Given the description of an element on the screen output the (x, y) to click on. 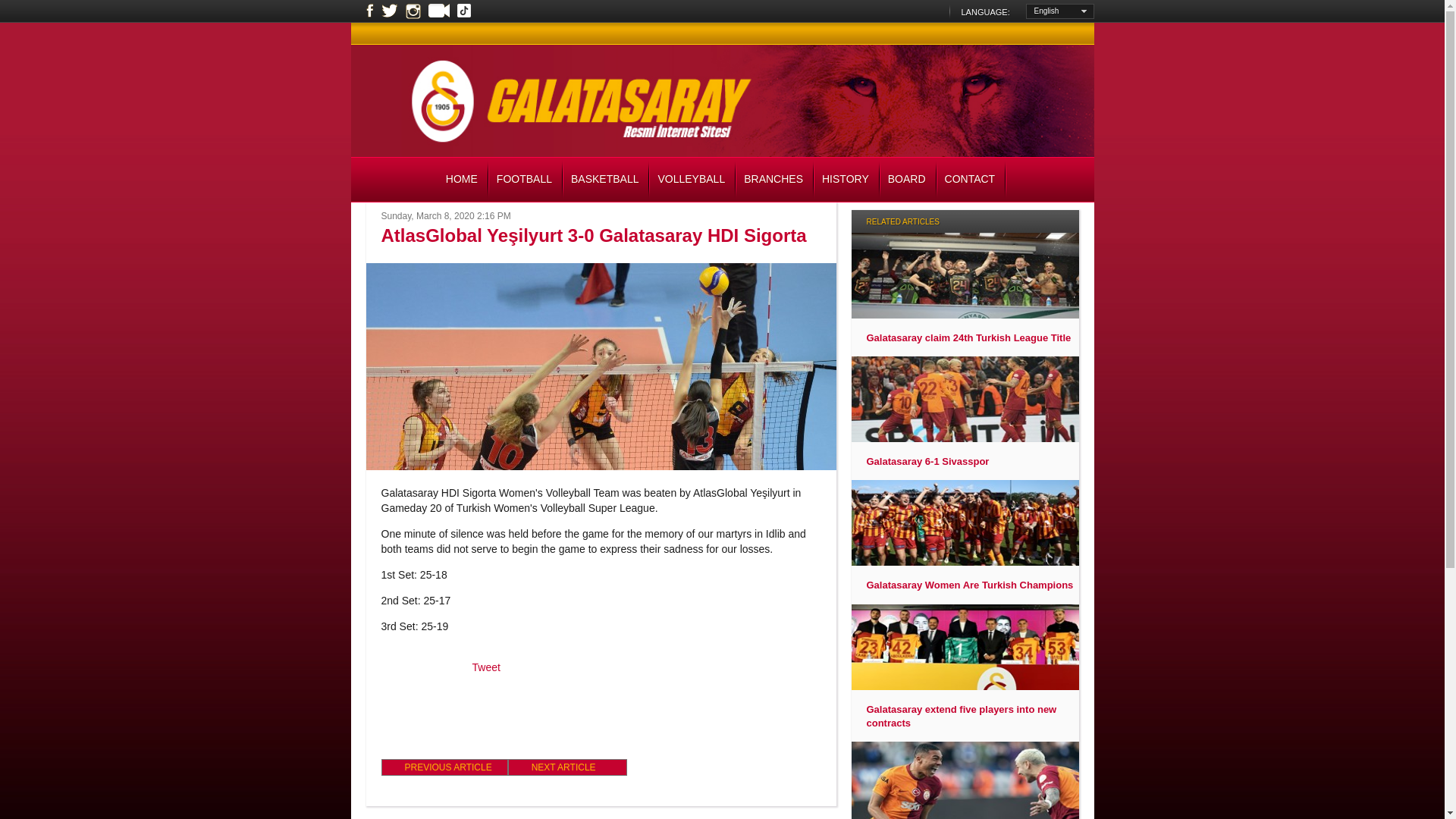
HISTORY (846, 180)
BOARD (908, 180)
FOOTBALL (526, 180)
NEXT ARTICLE (567, 767)
BRANCHES (774, 180)
Galatasaray Women Are Turkish Champions (969, 585)
PREVIOUS ARTICLE (443, 767)
Instagram (412, 11)
VOLLEYBALL (692, 180)
CONTACT (972, 180)
